Given the description of an element on the screen output the (x, y) to click on. 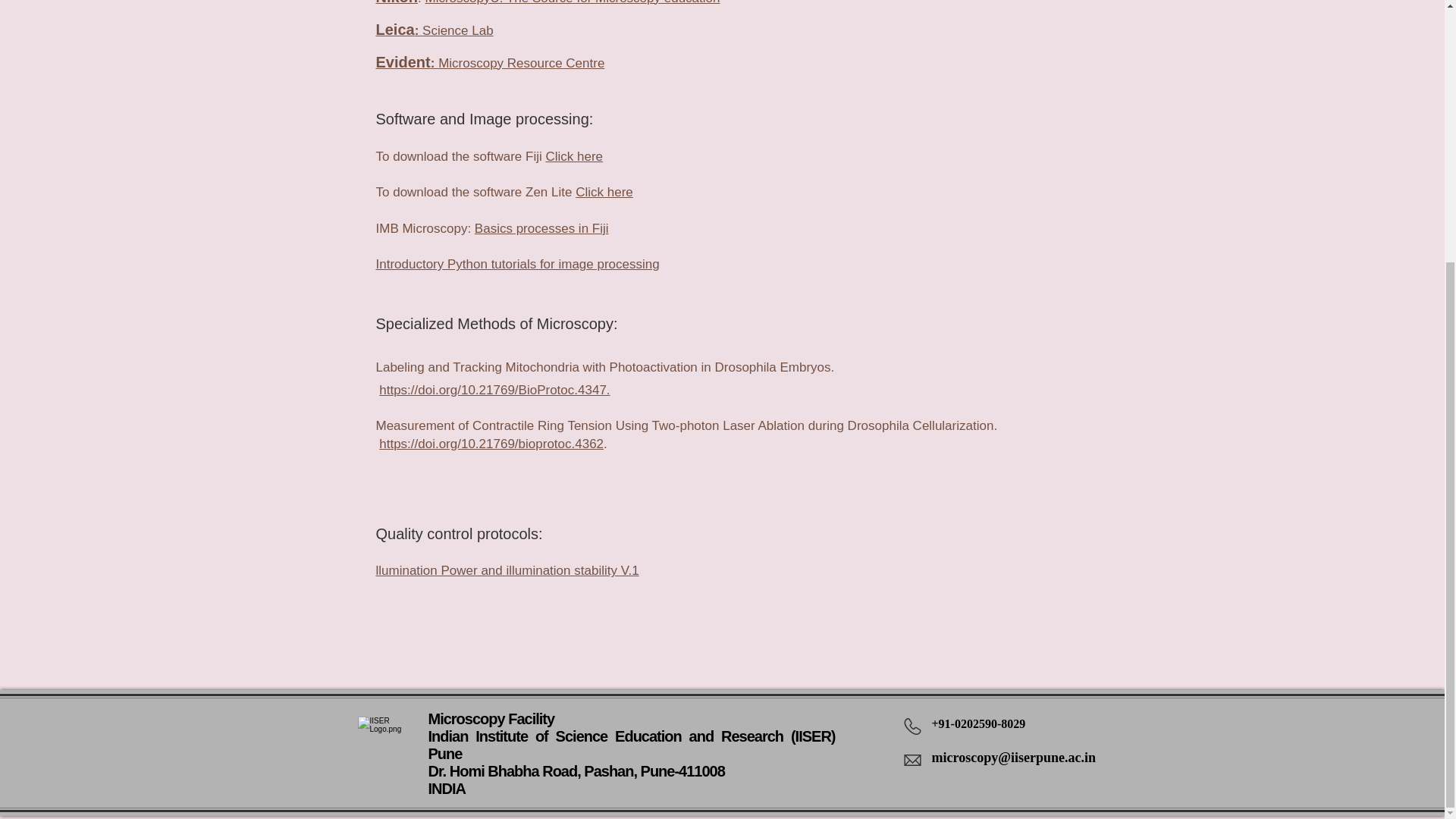
Click here (573, 156)
llumination Power and illumination stability V.1 (507, 570)
: (421, 2)
Basics processes in Fiji (541, 228)
Introductory Python tutorials for image processing (517, 264)
Leica: Science Lab (434, 30)
Evident: Microscopy Resource Centre (490, 62)
Nikon (397, 2)
Click here (604, 192)
MicroscopyU: The Source for Microscopy education (572, 2)
